Given the description of an element on the screen output the (x, y) to click on. 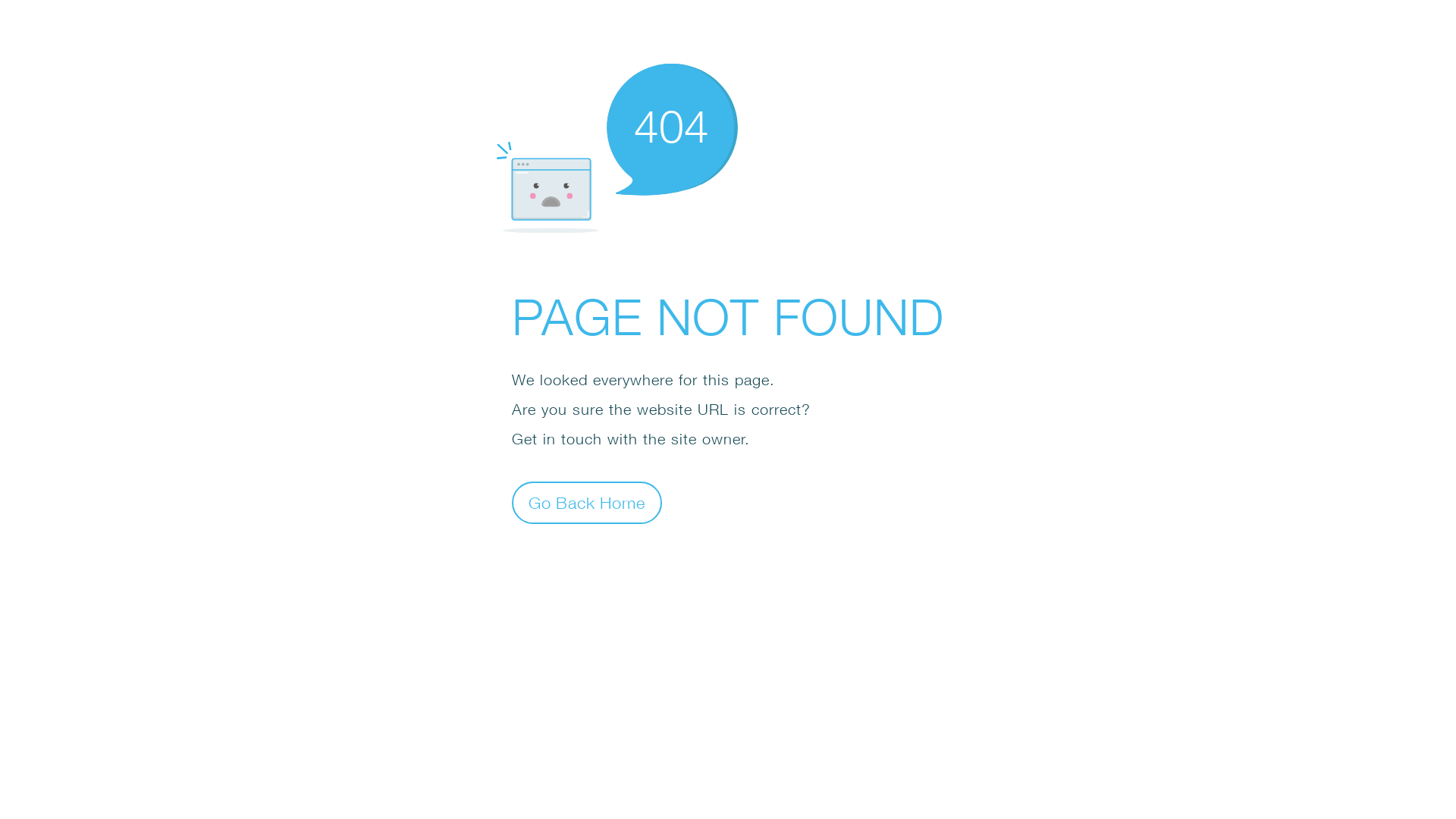
Go Back Home Element type: text (586, 502)
